Given the description of an element on the screen output the (x, y) to click on. 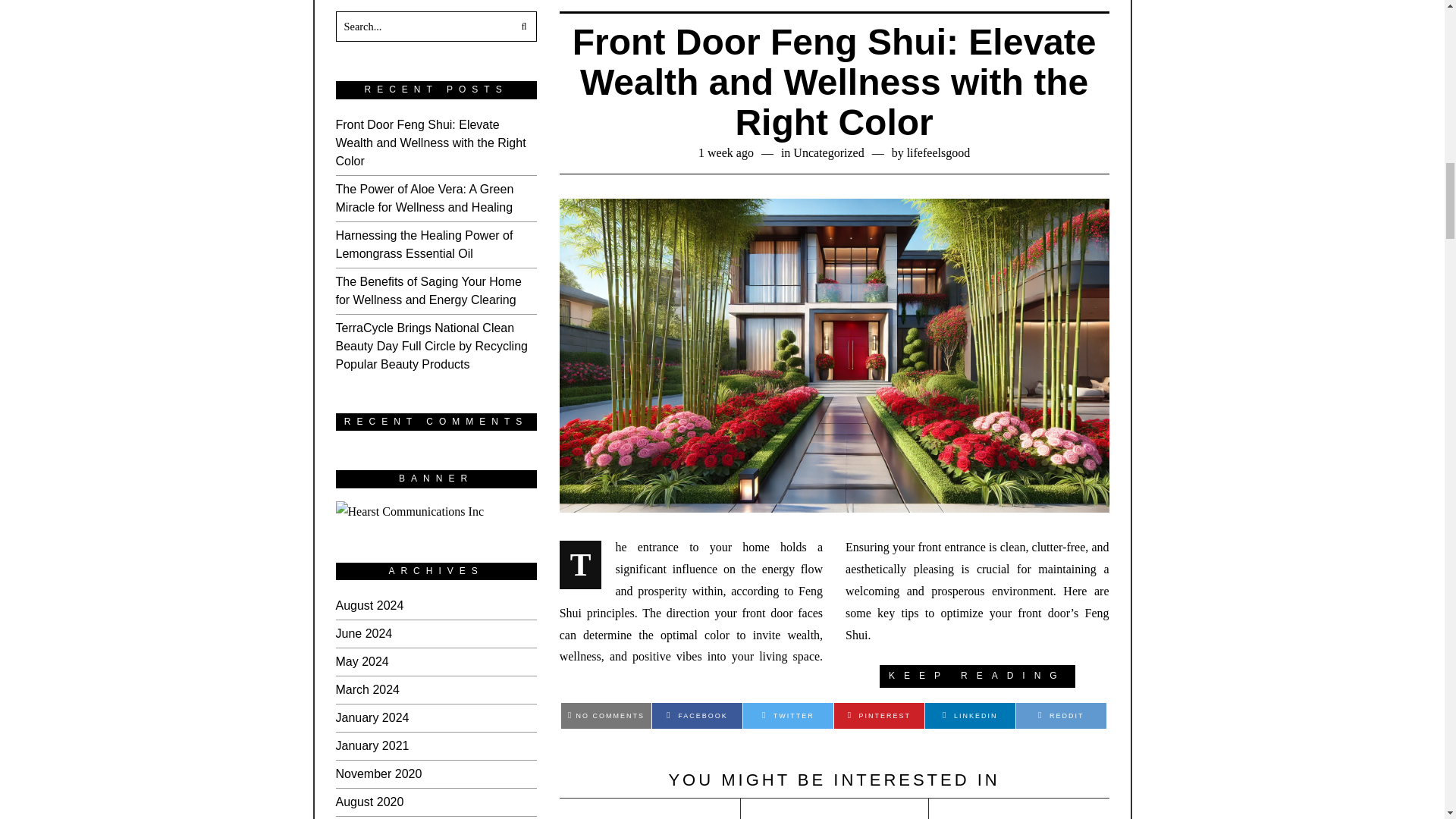
Linkedin (969, 715)
Twitter (787, 715)
Facebook (697, 715)
Pinterest (879, 715)
Reddit (1061, 715)
